Given the description of an element on the screen output the (x, y) to click on. 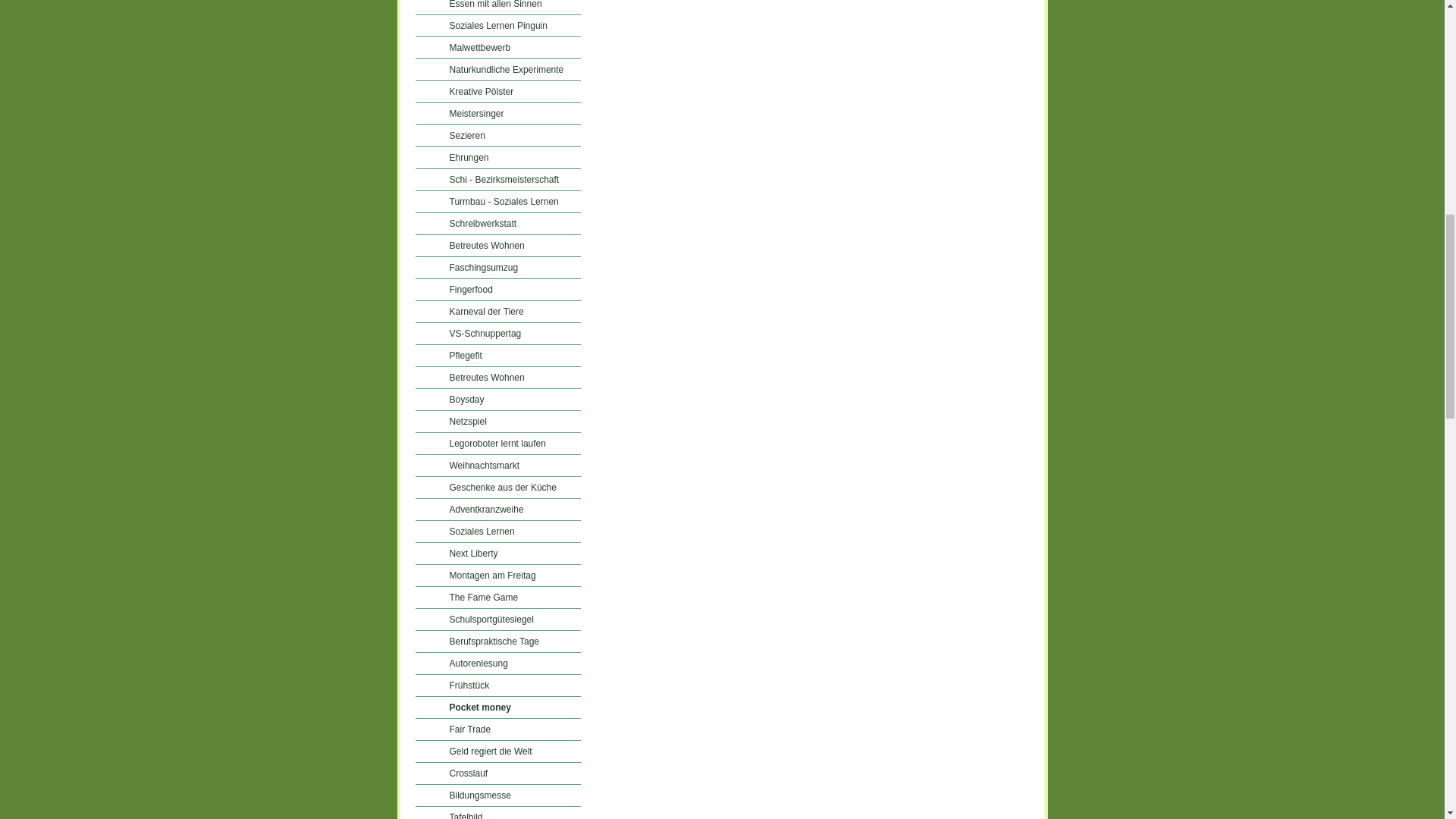
Essen mit allen Sinnen (497, 7)
Soziales Lernen Pinguin (497, 25)
Malwettbewerb (497, 47)
